Given the description of an element on the screen output the (x, y) to click on. 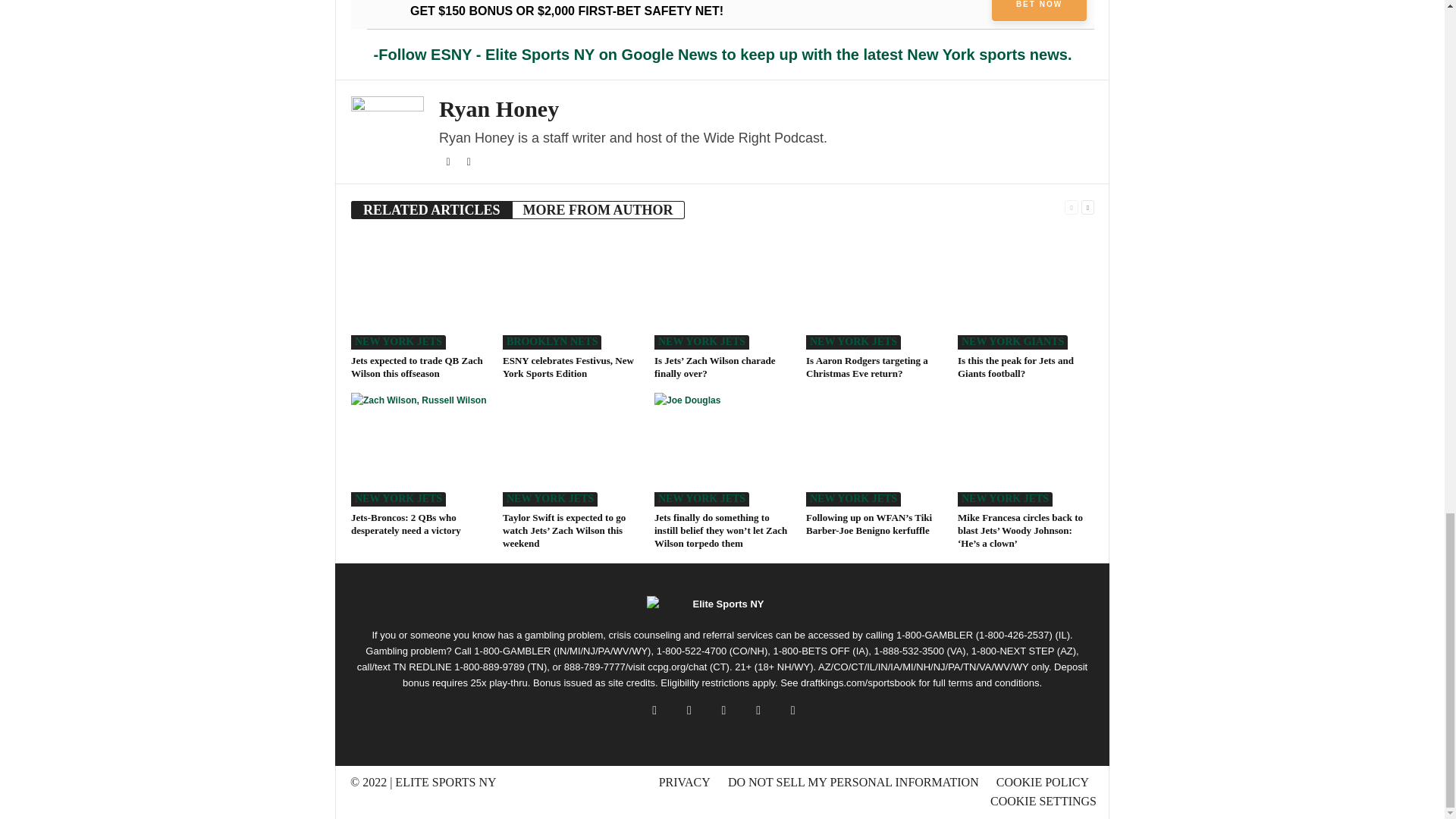
ESNY celebrates Festivus, New York Sports Edition (570, 292)
Twitter (449, 162)
Jets expected to trade QB Zach Wilson this offseason (418, 292)
Jets expected to trade QB Zach Wilson this offseason (416, 366)
Linkedin (468, 162)
